Given the description of an element on the screen output the (x, y) to click on. 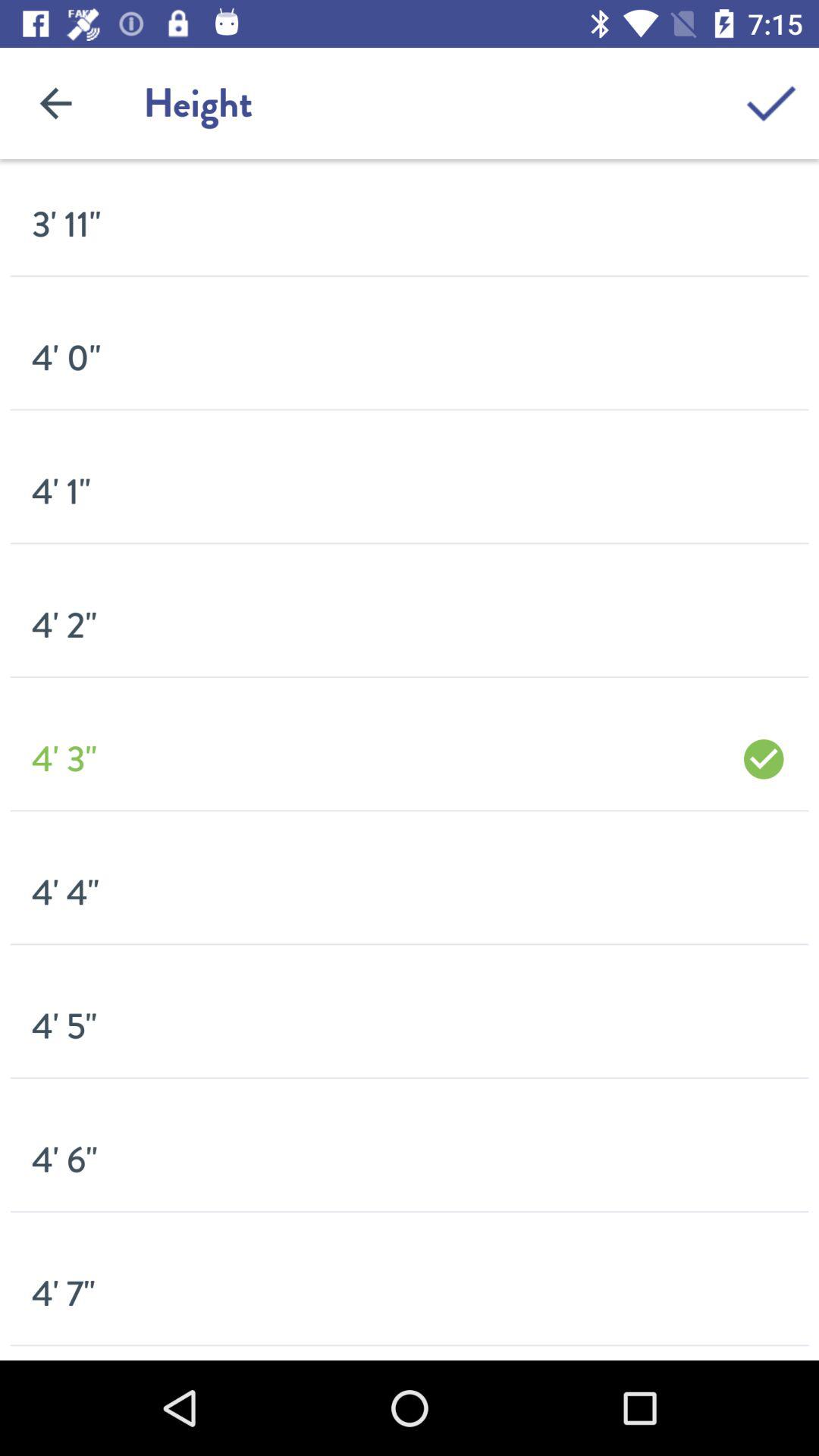
turn on icon on the right (763, 759)
